Given the description of an element on the screen output the (x, y) to click on. 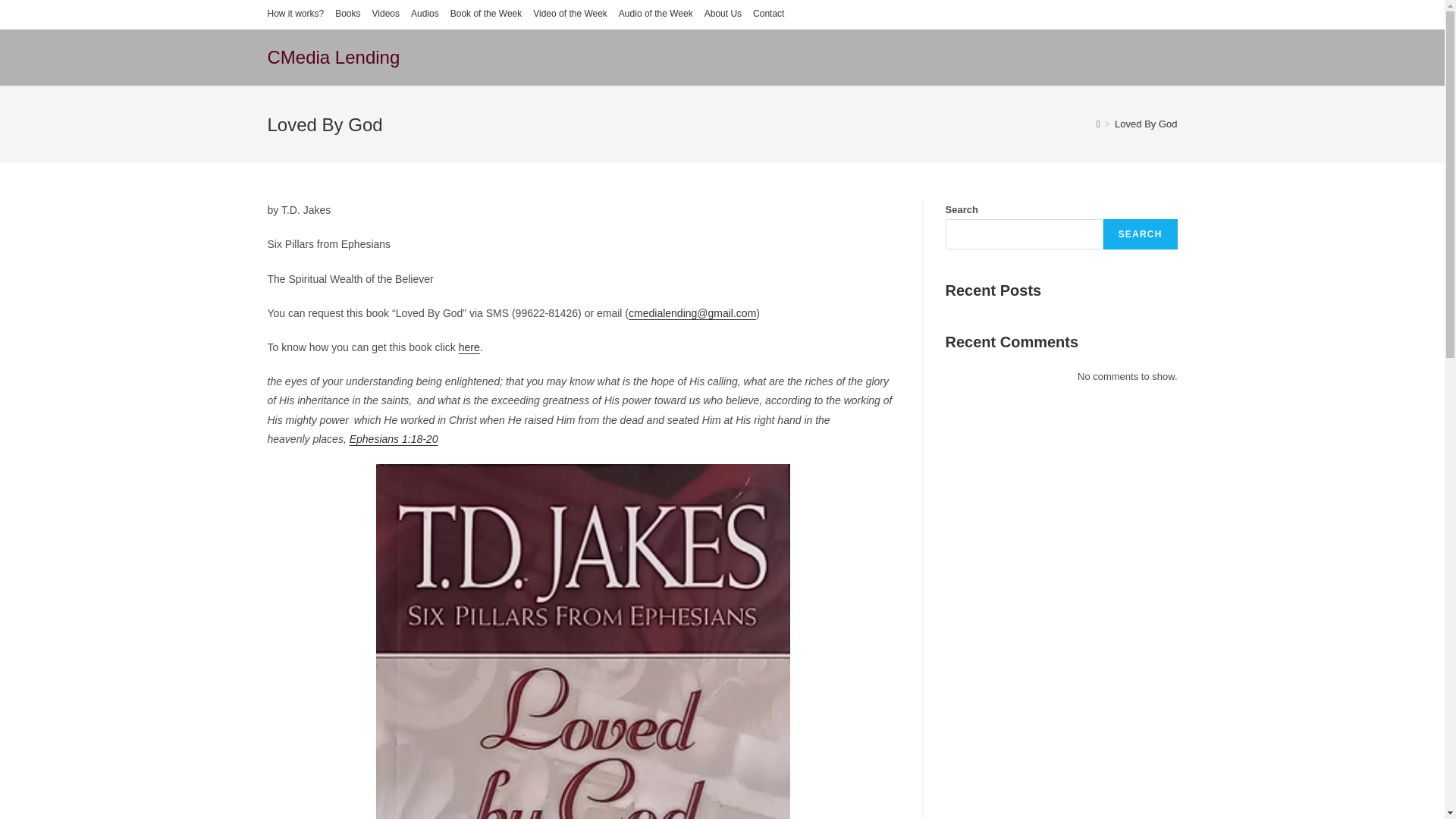
About Us (722, 13)
SEARCH (1140, 234)
Contact (768, 13)
Ephesians 1:18-20 (393, 439)
Audios (424, 13)
Books (346, 13)
CMedia Lending (332, 56)
How it works? (294, 13)
Video of the Week (569, 13)
Videos (385, 13)
